Given the description of an element on the screen output the (x, y) to click on. 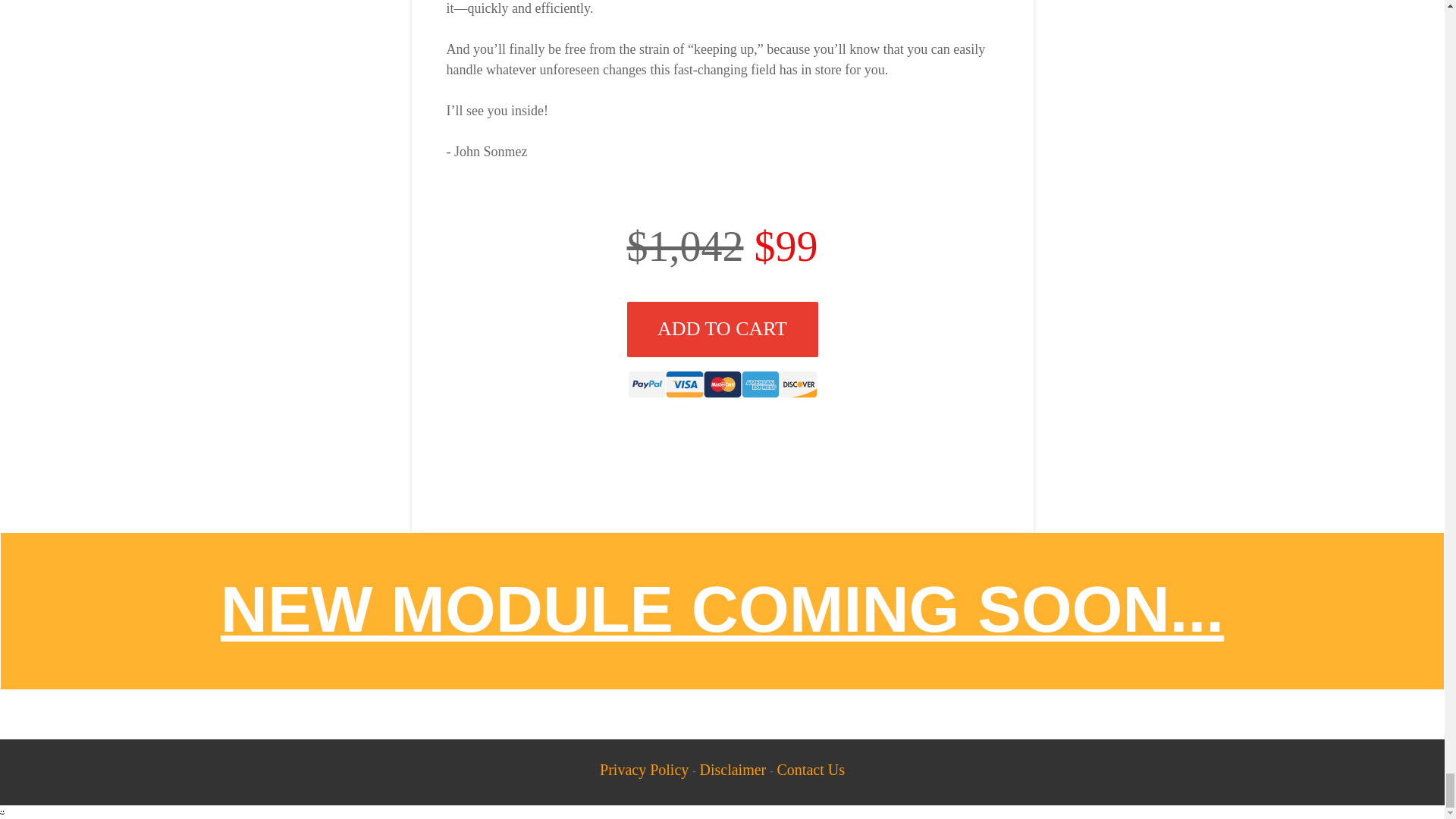
Privacy Policy (643, 769)
Disclaimer (733, 769)
Contact Us (810, 769)
ADD TO CART (721, 329)
